Given the description of an element on the screen output the (x, y) to click on. 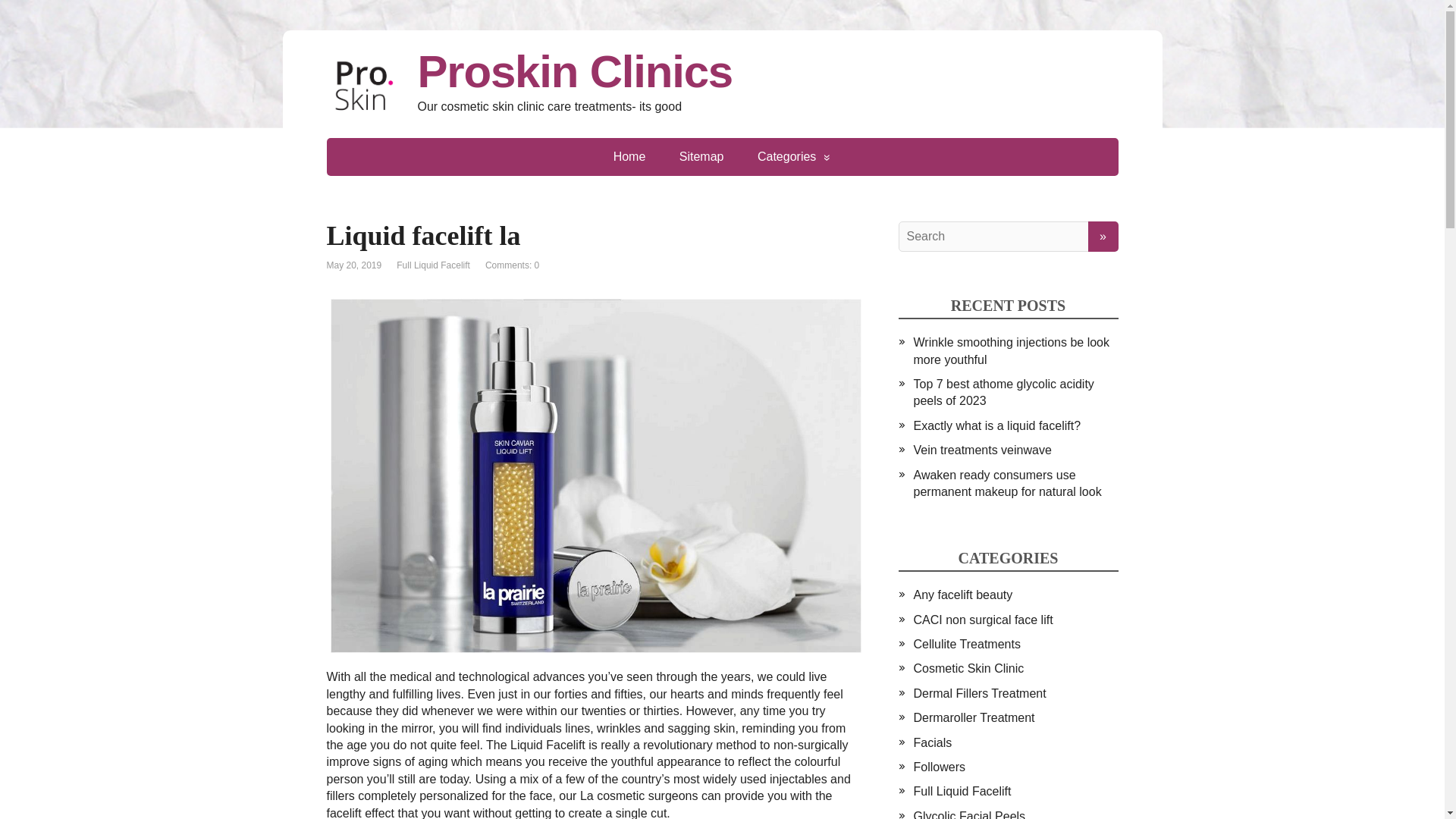
Categories (793, 157)
Comments: 0 (511, 265)
Home (629, 157)
Sitemap (701, 157)
Proskin Clinics (722, 71)
Full Liquid Facelift (433, 265)
